Given the description of an element on the screen output the (x, y) to click on. 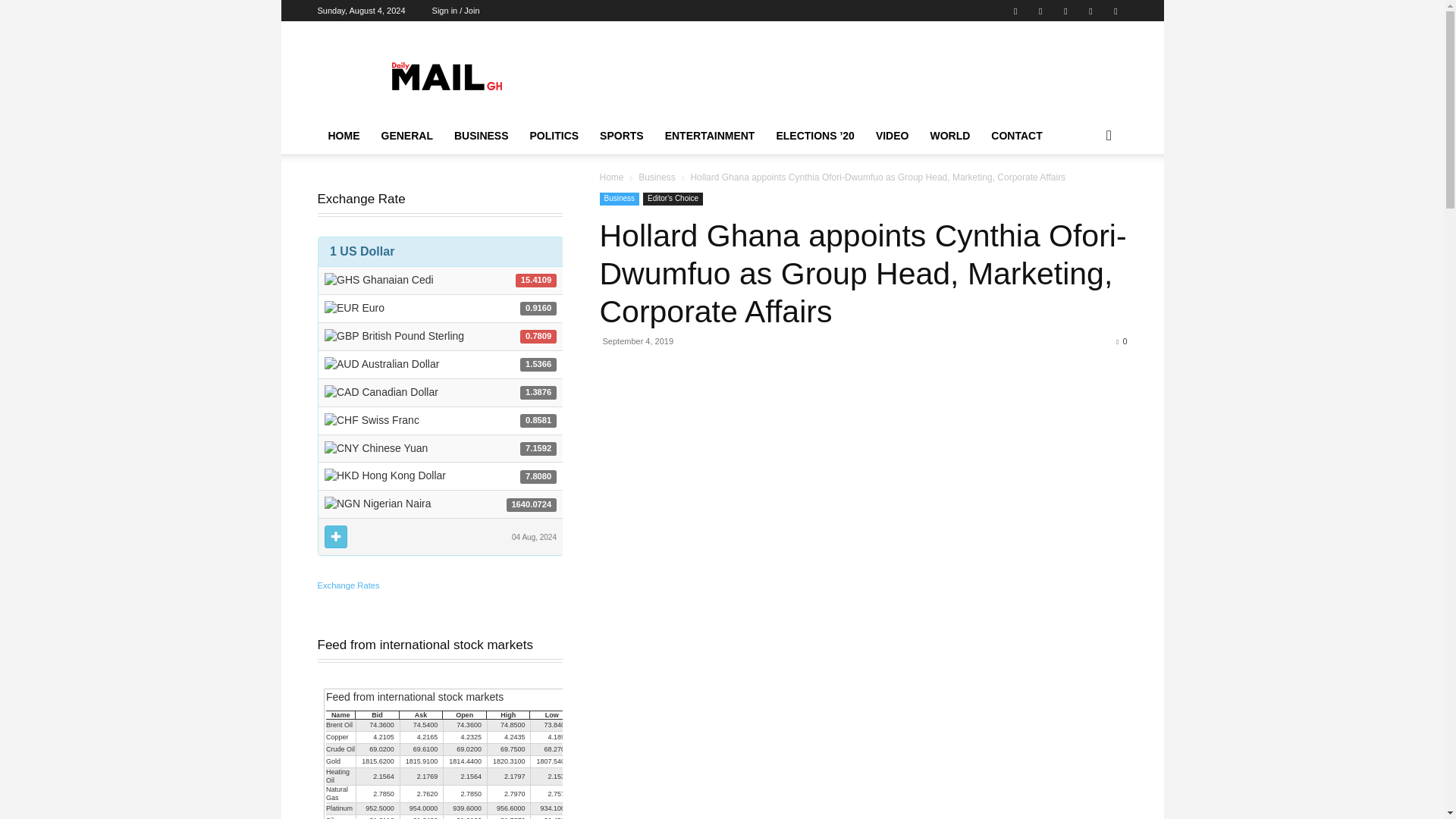
VIDEO (892, 135)
Vimeo (1090, 10)
HOME (343, 135)
Facebook (1015, 10)
VKontakte (1114, 10)
SPORTS (621, 135)
ENTERTAINMENT (709, 135)
WORLD (948, 135)
BUSINESS (481, 135)
POLITICS (554, 135)
